Given the description of an element on the screen output the (x, y) to click on. 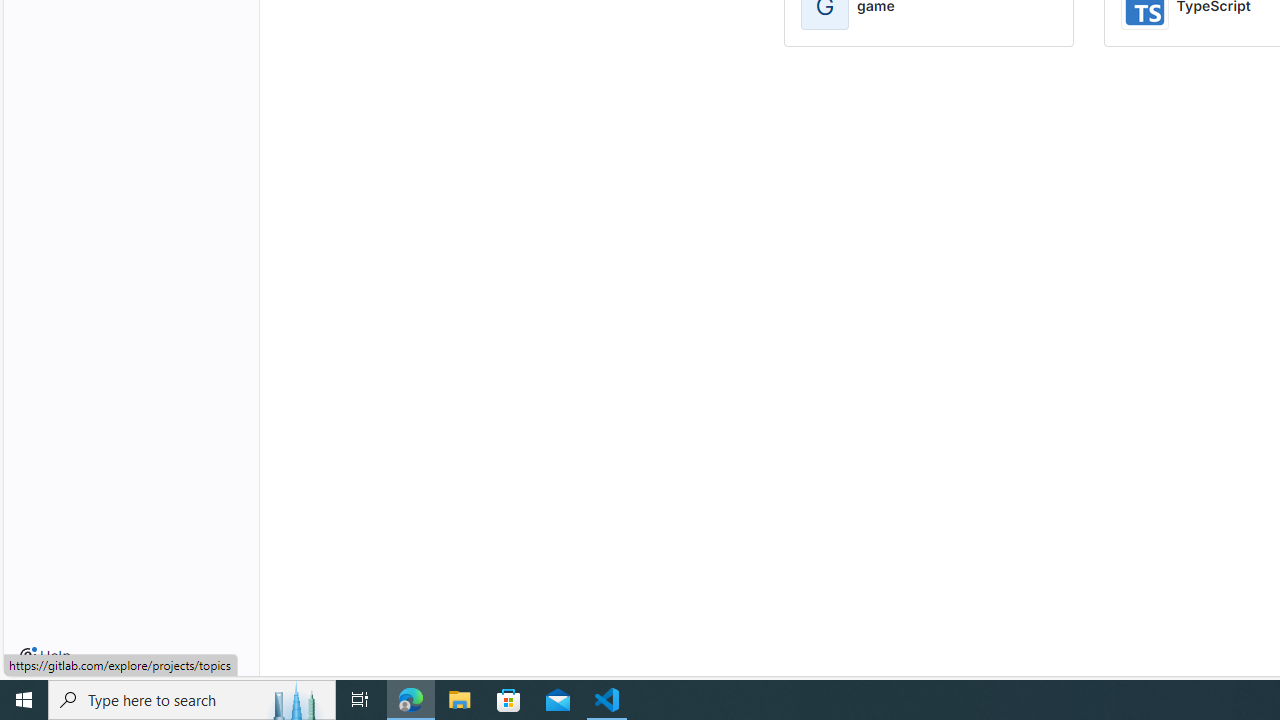
Help (45, 655)
